Given the description of an element on the screen output the (x, y) to click on. 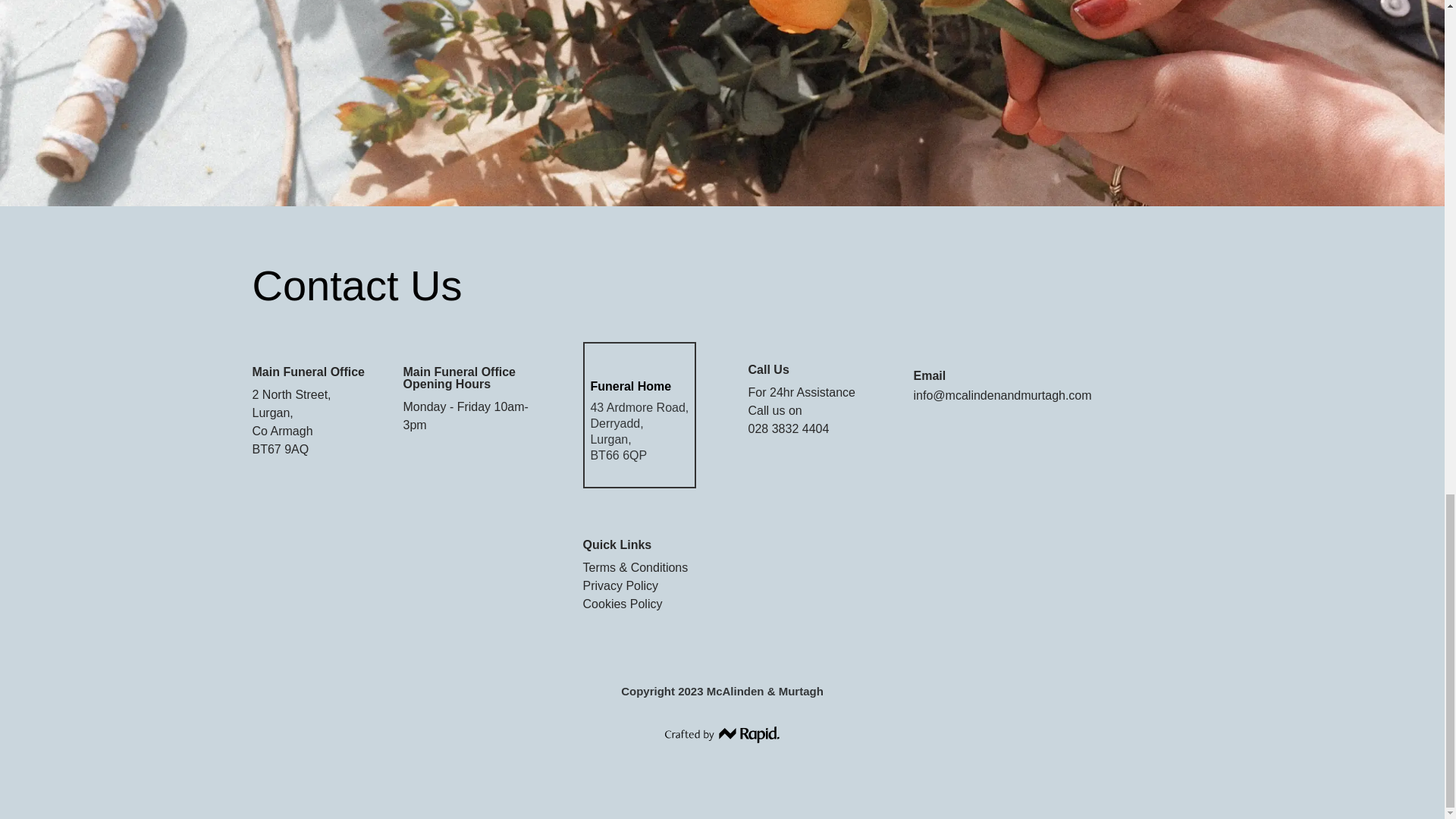
Email (930, 375)
Cookies Policy (622, 603)
Privacy Policy (621, 585)
Call Us (768, 369)
Main Funeral Office (307, 371)
